Given the description of an element on the screen output the (x, y) to click on. 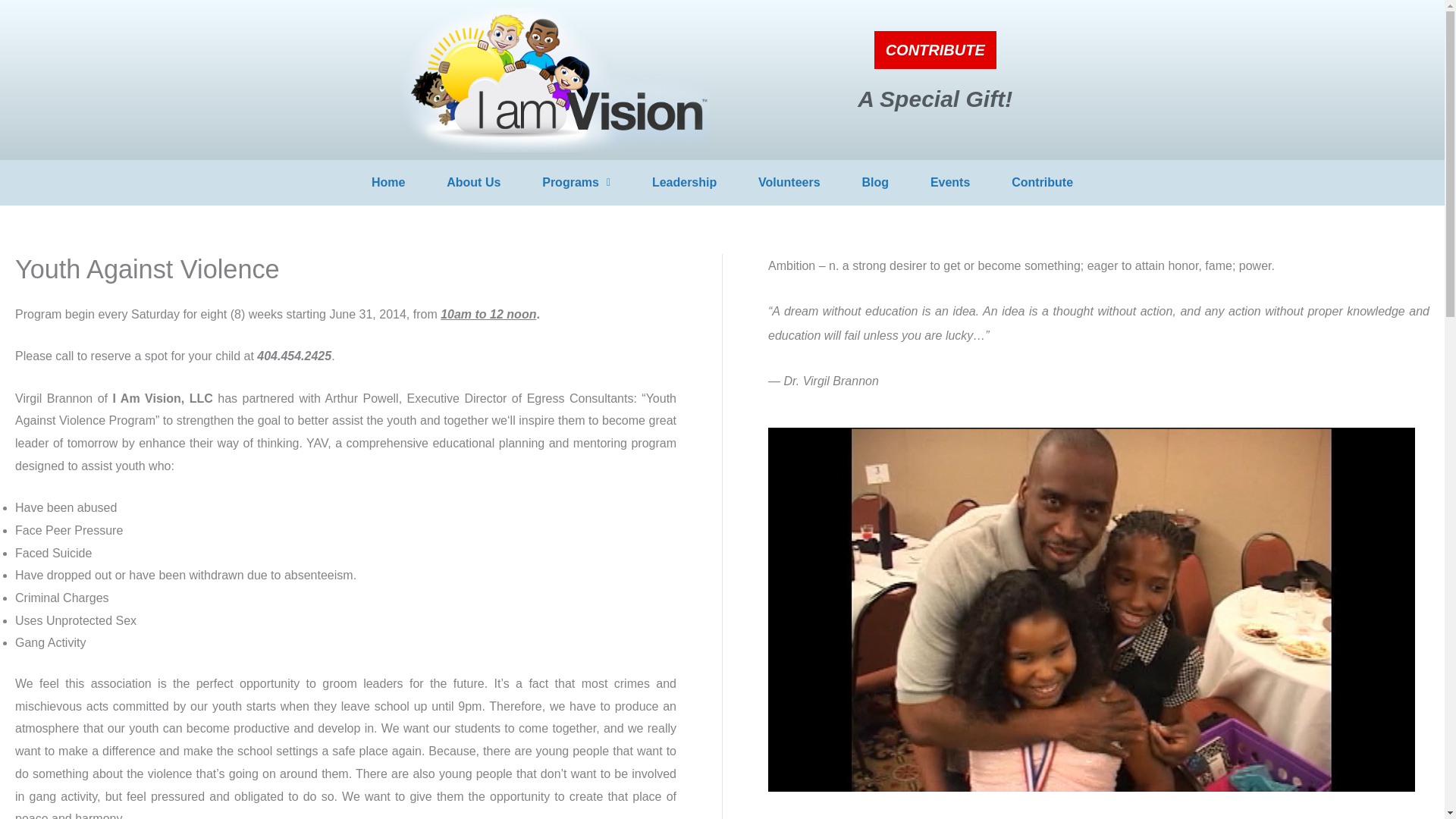
CONTRIBUTE (935, 48)
About Us (473, 182)
Home (387, 182)
Events (949, 182)
Blog (874, 182)
Programs (576, 182)
Volunteers (789, 182)
Contribute (1042, 182)
Leadership (683, 182)
